Given the description of an element on the screen output the (x, y) to click on. 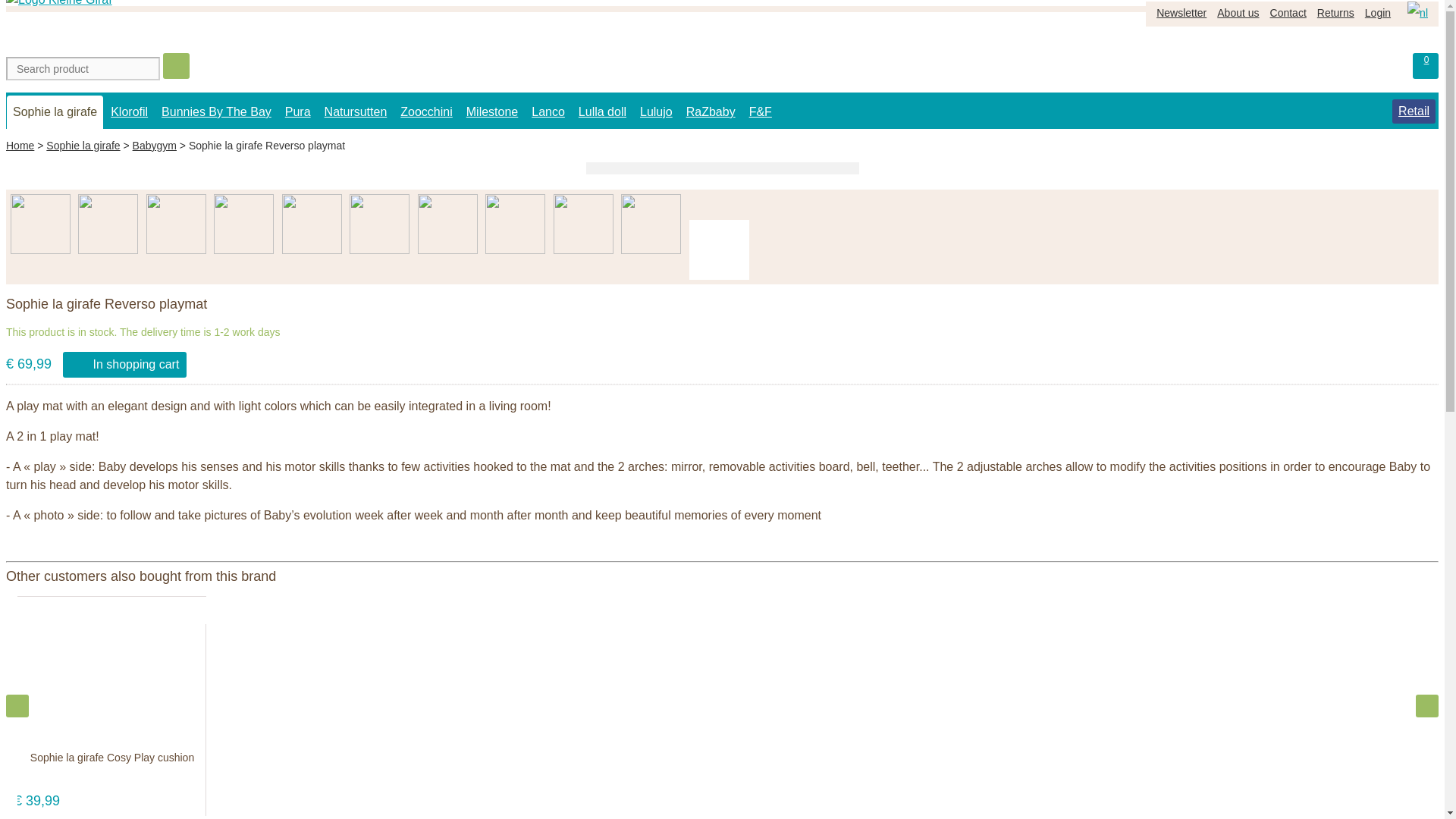
Add to shopping cart (184, 795)
Newsletter (1181, 13)
Watch the video of this product (718, 250)
Login (1377, 13)
Klorofil (129, 111)
Contact (1288, 13)
In shopping cart (124, 364)
Sophie la girafe (55, 111)
Returns (1335, 13)
Add to shopping cart (184, 795)
Pura (298, 111)
About us (1237, 13)
Bunnies By The Bay (216, 111)
